Given the description of an element on the screen output the (x, y) to click on. 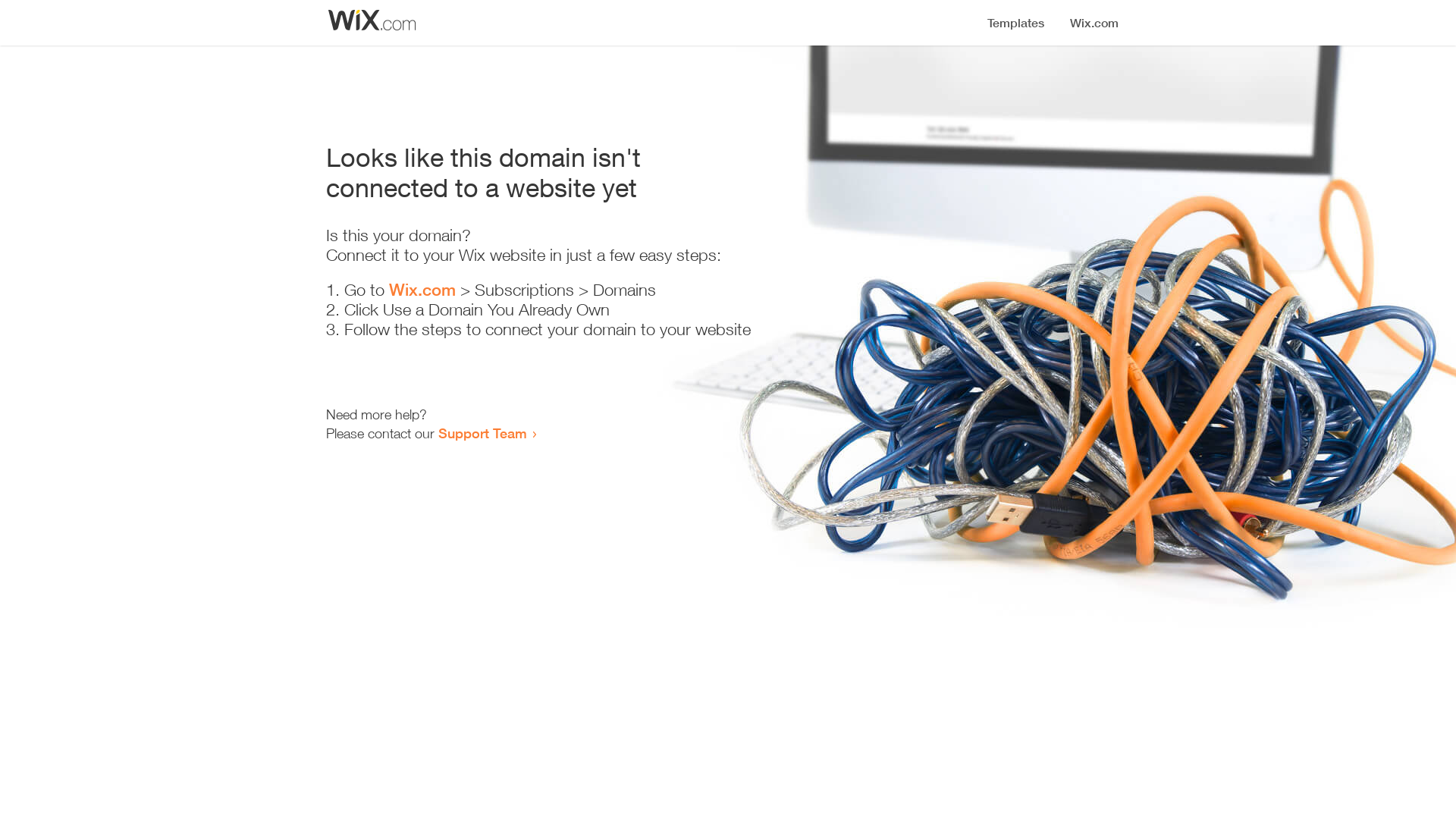
Wix.com Element type: text (422, 289)
Support Team Element type: text (482, 432)
